Given the description of an element on the screen output the (x, y) to click on. 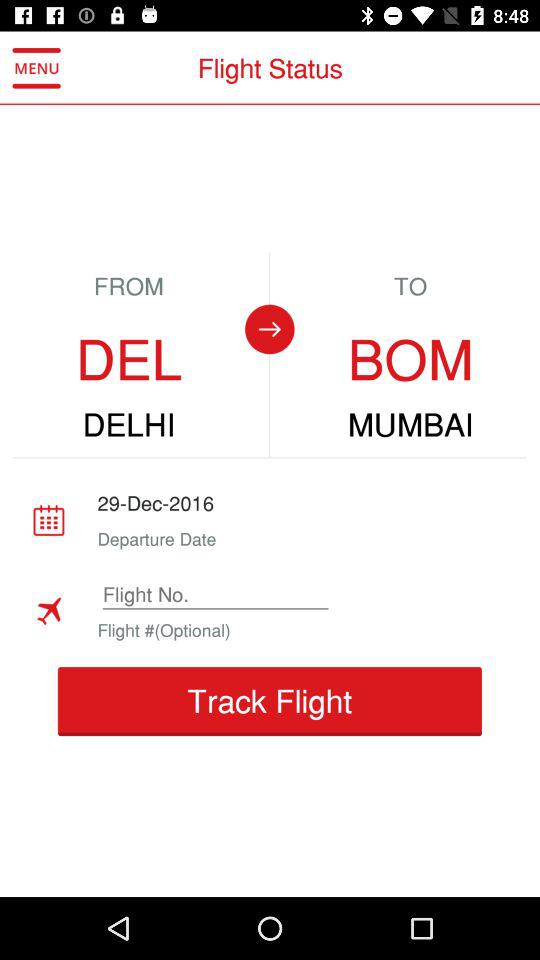
press icon next to the flight status item (36, 68)
